Given the description of an element on the screen output the (x, y) to click on. 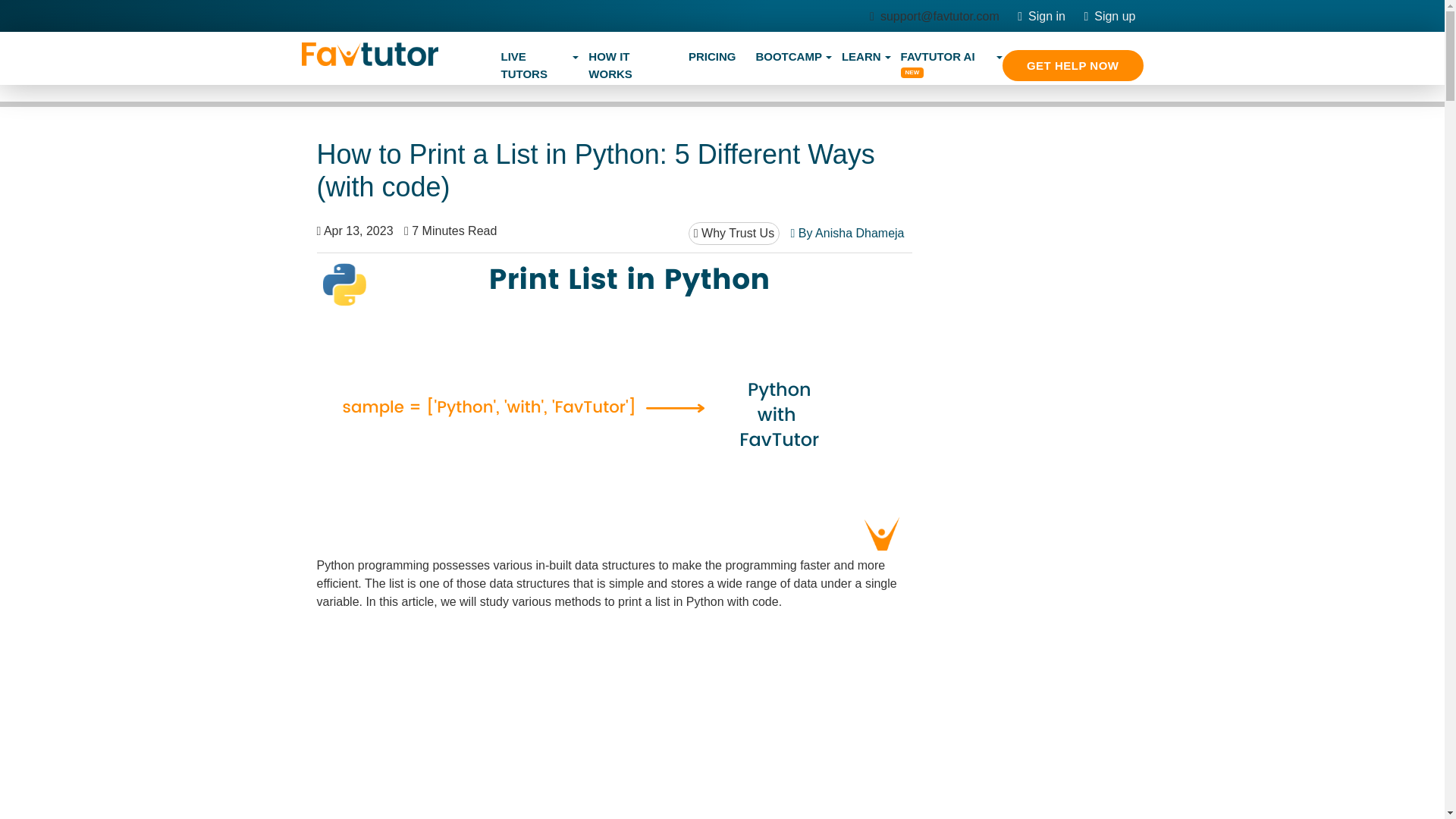
BOOTCAMP (788, 56)
GET HELP NOW (1072, 65)
PRICING (711, 56)
FAVTUTOR AI NEW (947, 65)
Sign in (1041, 15)
Sign up (1109, 15)
HOW IT WORKS (628, 65)
LIVE TUTORS (535, 65)
LEARN (861, 56)
